Given the description of an element on the screen output the (x, y) to click on. 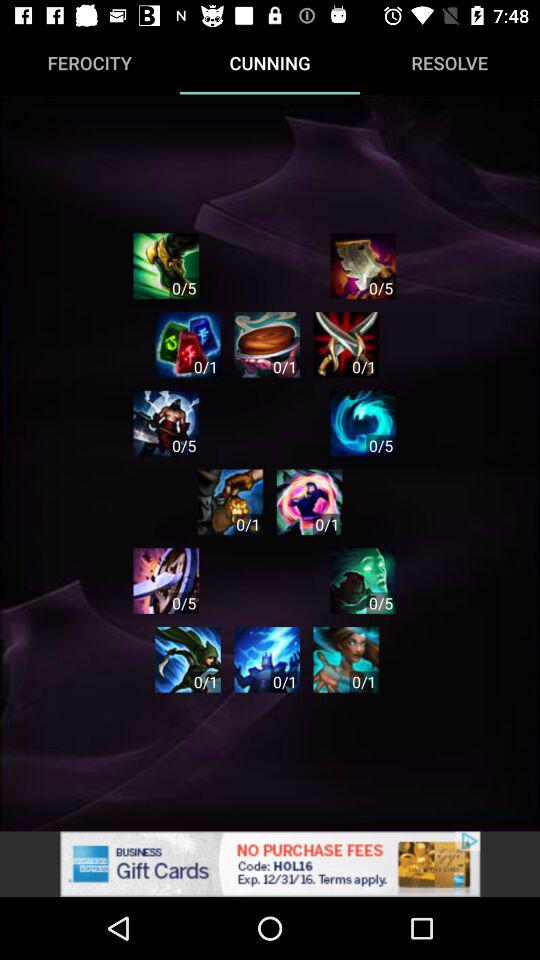
new game (346, 659)
